Given the description of an element on the screen output the (x, y) to click on. 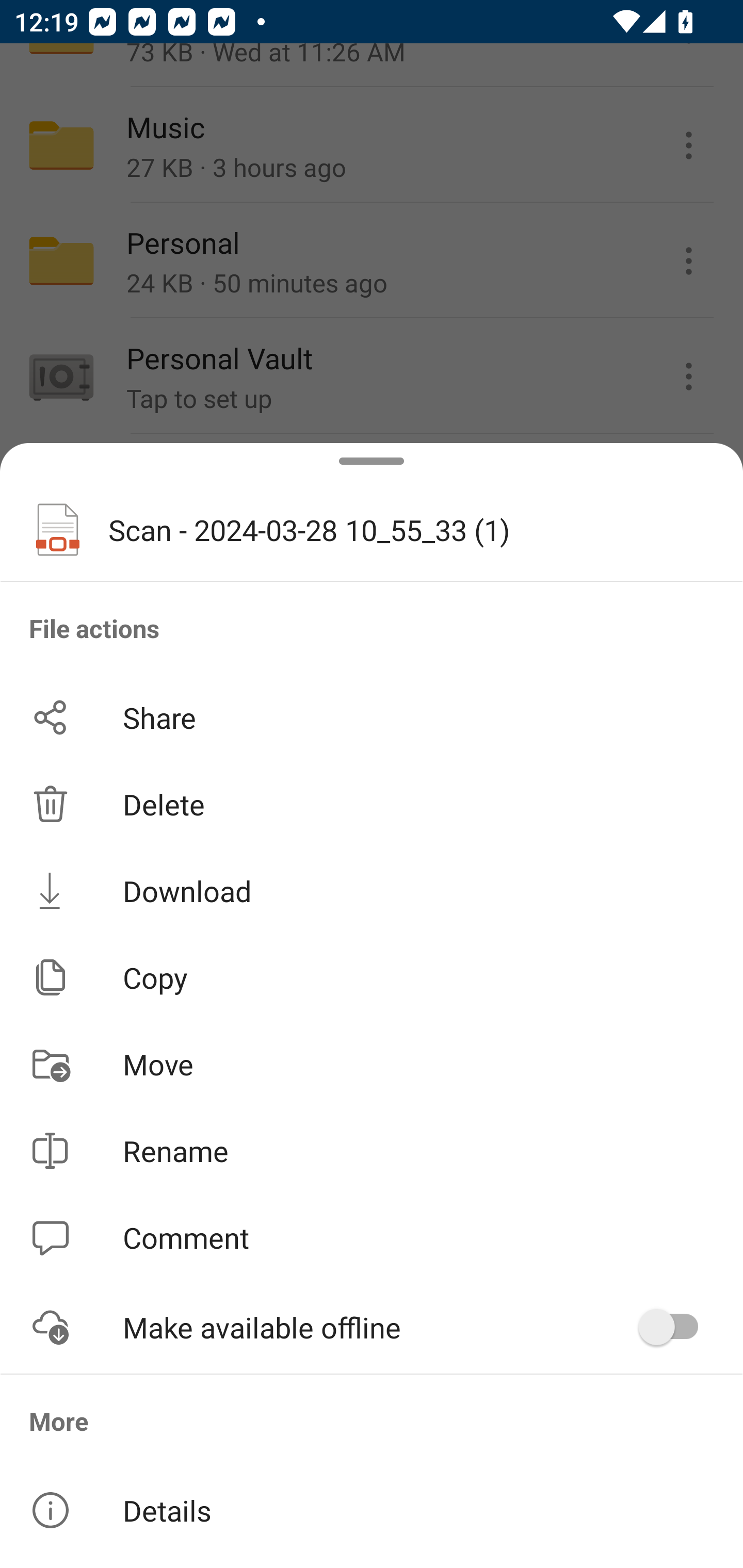
Share button Share (371, 717)
Delete button Delete (371, 803)
Download button Download (371, 890)
Copy button Copy (371, 977)
Move button Move (371, 1063)
Rename button Rename (371, 1150)
Comment button Comment (371, 1237)
Make offline operation (674, 1327)
Details button Details (371, 1510)
